Given the description of an element on the screen output the (x, y) to click on. 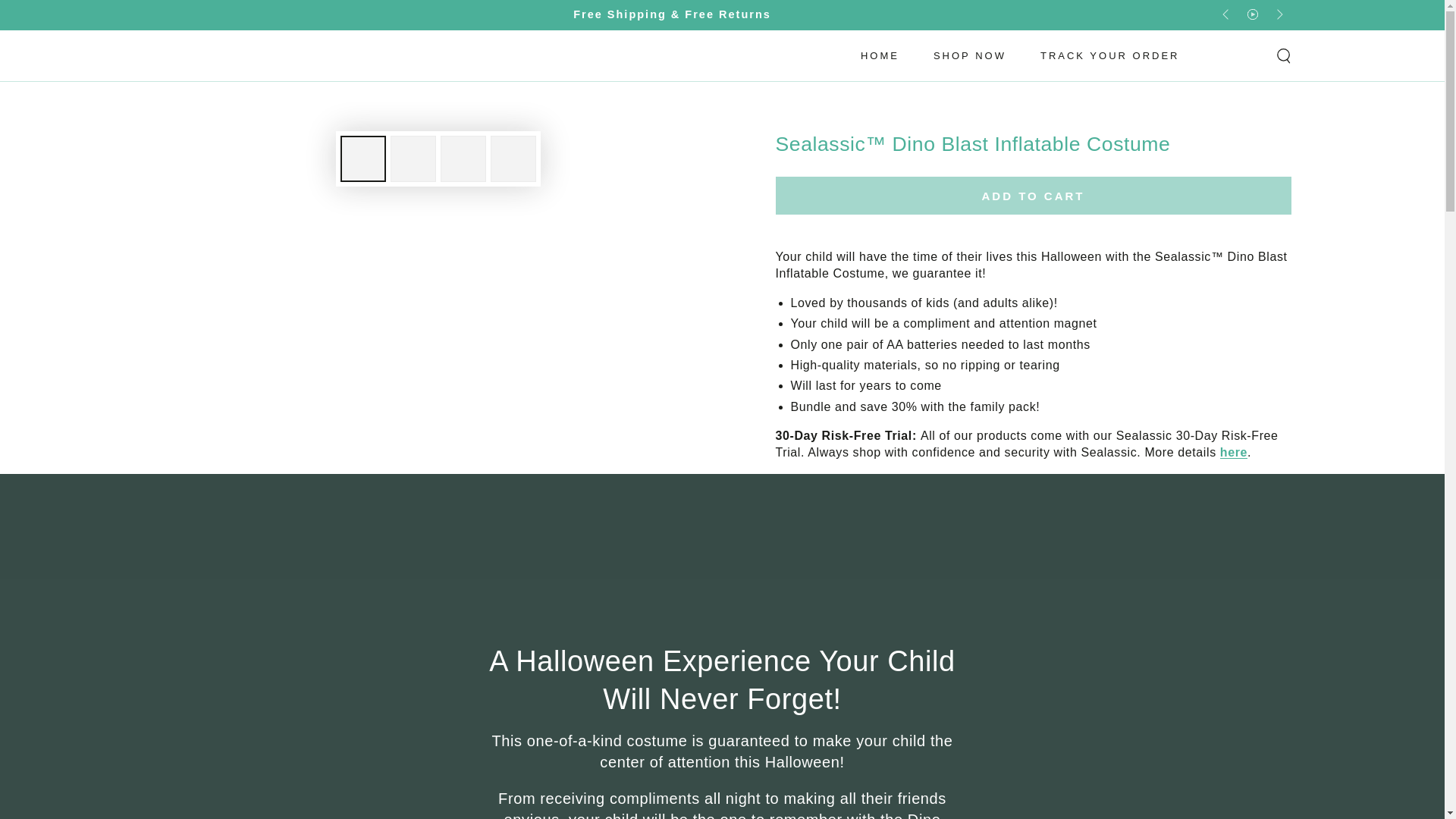
SHOP NOW (969, 55)
Sealassic 1-Year Risk-Free Trial (1233, 451)
TRACK YOUR ORDER (1110, 55)
SKIP TO CONTENT (67, 14)
HOME (879, 55)
